Given the description of an element on the screen output the (x, y) to click on. 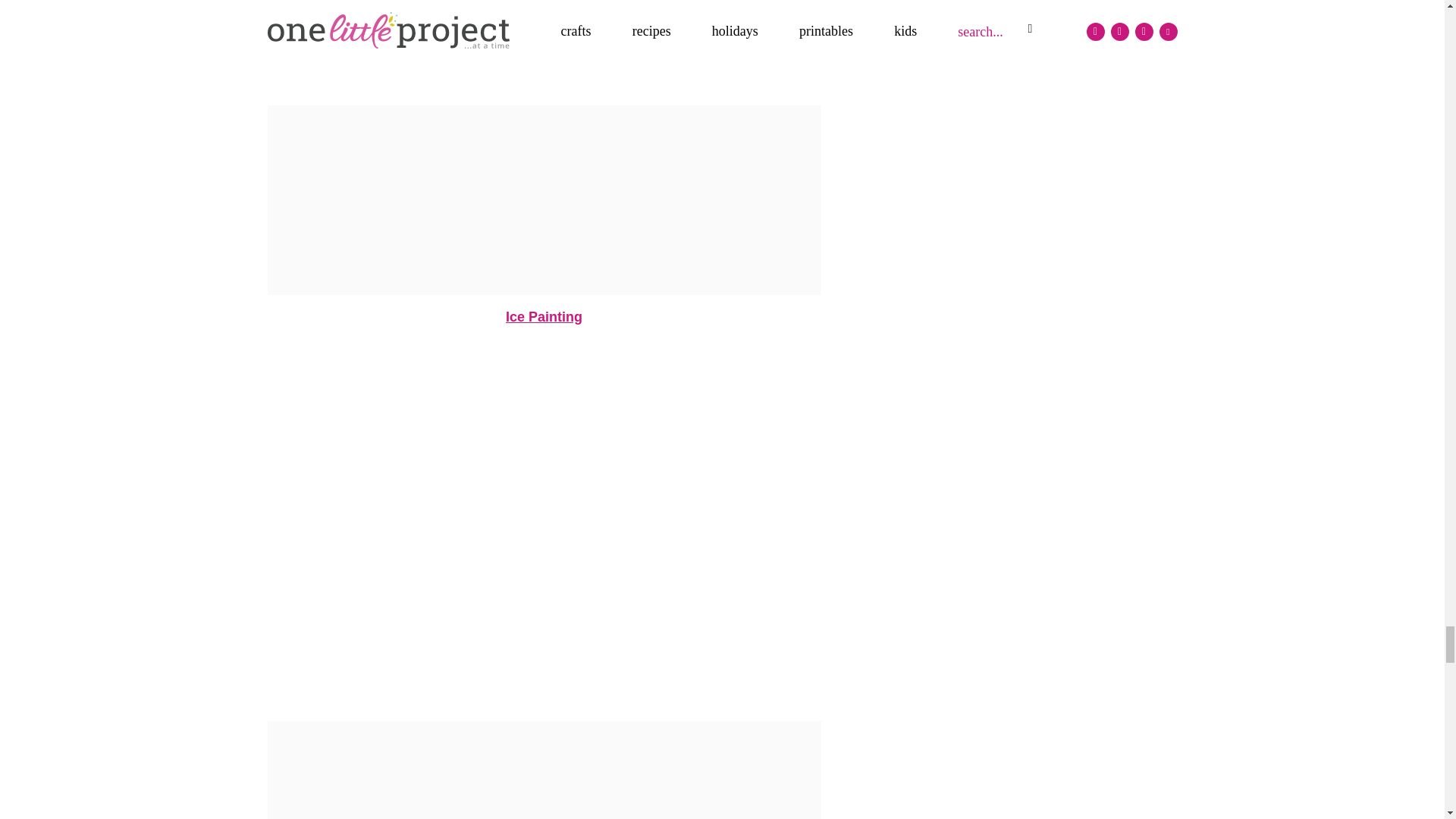
Kids Winter Hat Art Project (543, 47)
